Given the description of an element on the screen output the (x, y) to click on. 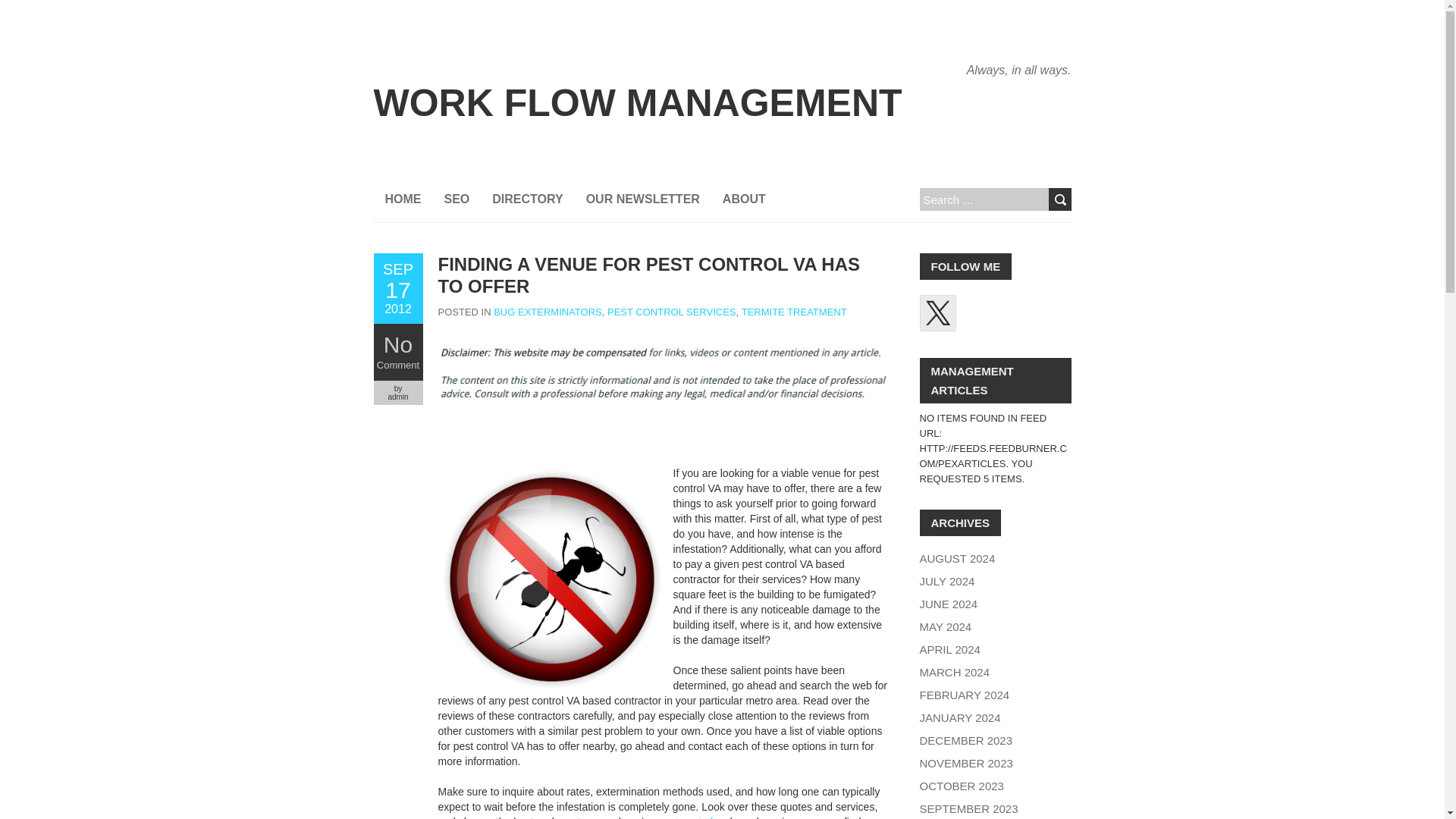
Search (1059, 199)
BUG EXTERMINATORS (547, 311)
Search (1059, 199)
Follow us on Twitter (936, 312)
Work Flow Management (636, 102)
JULY 2024 (946, 581)
Finding a Venue for Pest Control VA Has to Offer (397, 288)
DIRECTORY (526, 198)
No (397, 344)
Comment (397, 365)
